Given the description of an element on the screen output the (x, y) to click on. 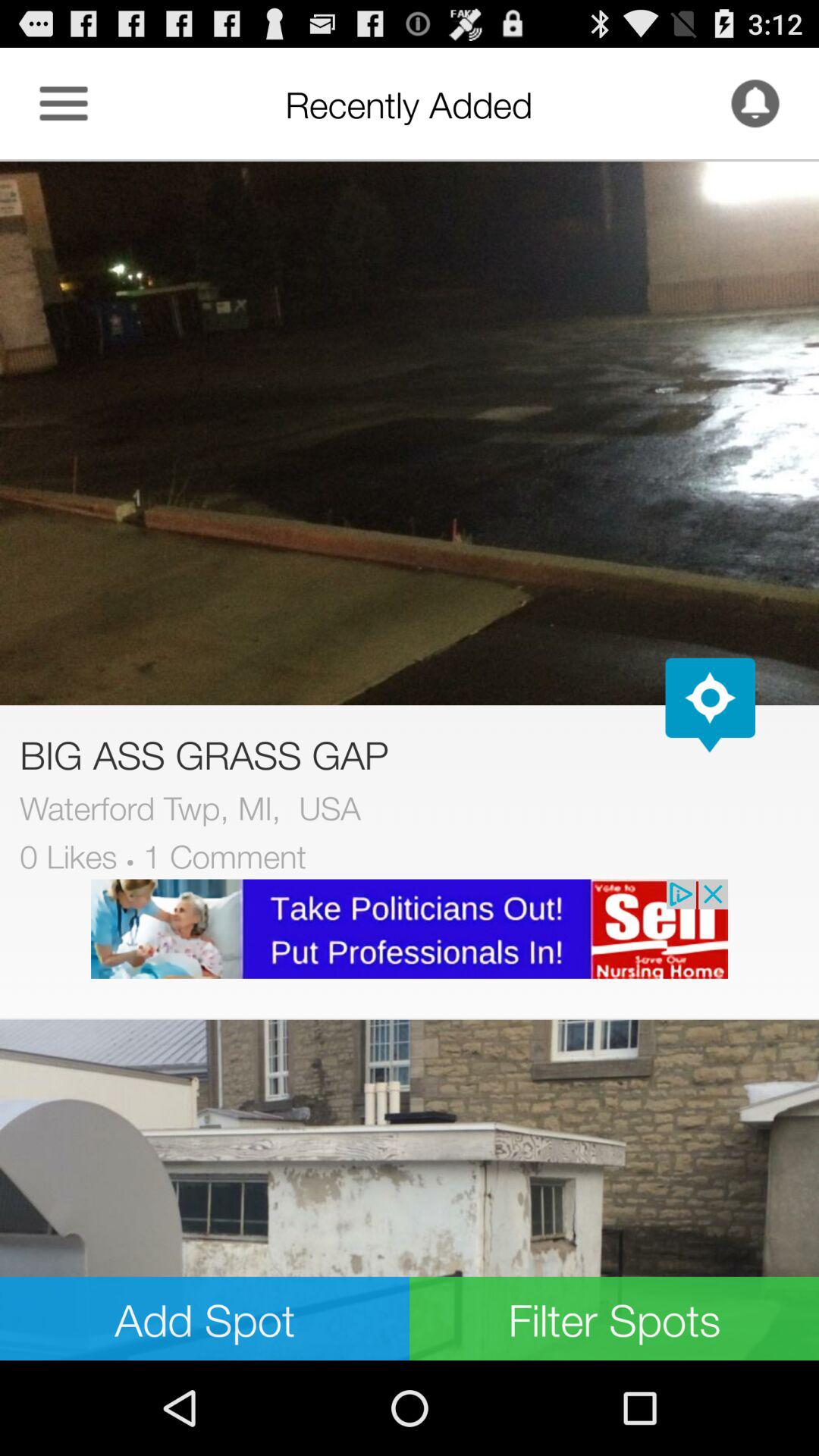
advertisement (409, 928)
